Given the description of an element on the screen output the (x, y) to click on. 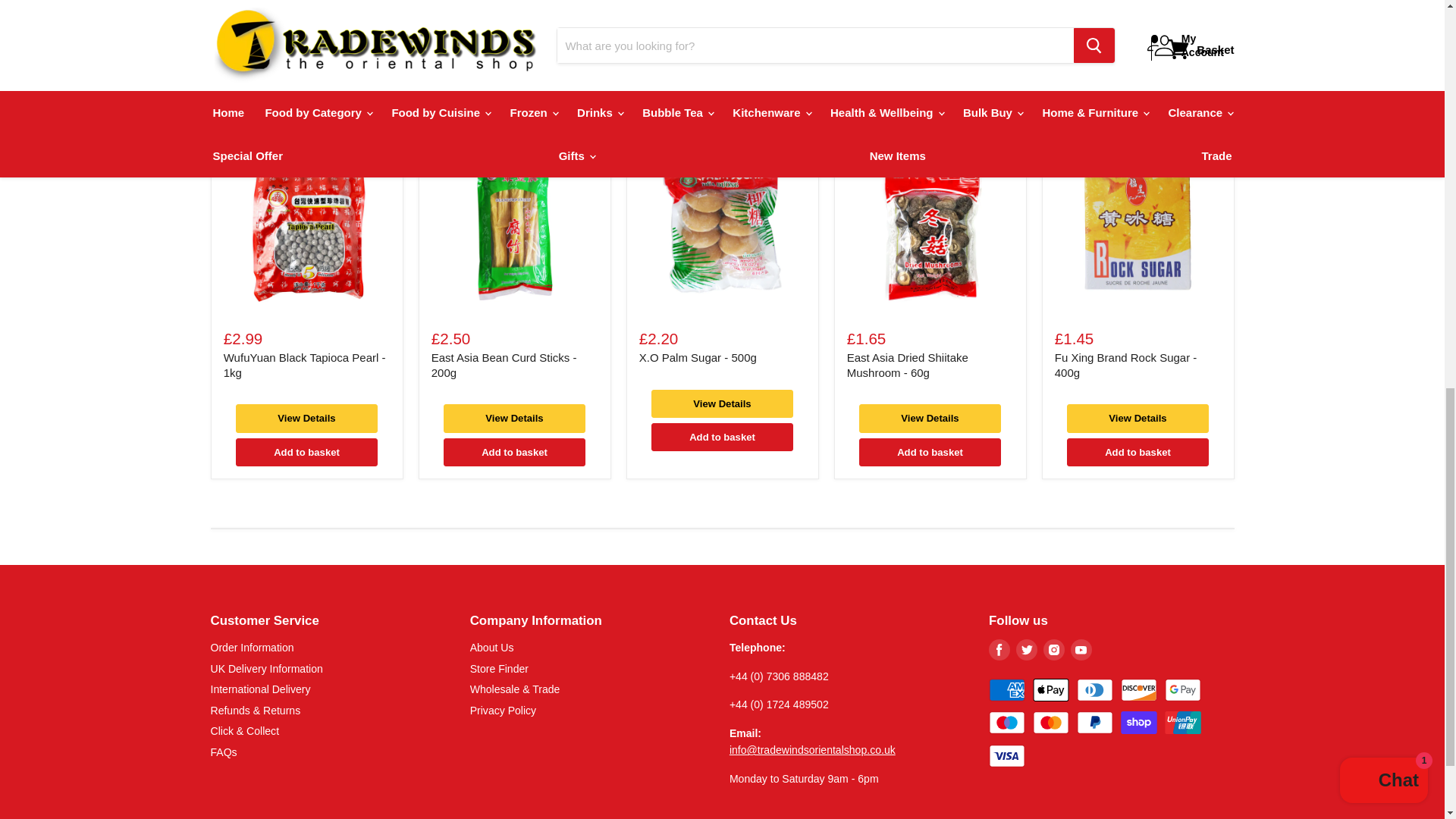
Facebook (999, 649)
Instagram (1053, 649)
Youtube (1081, 649)
Twitter (1026, 649)
